Given the description of an element on the screen output the (x, y) to click on. 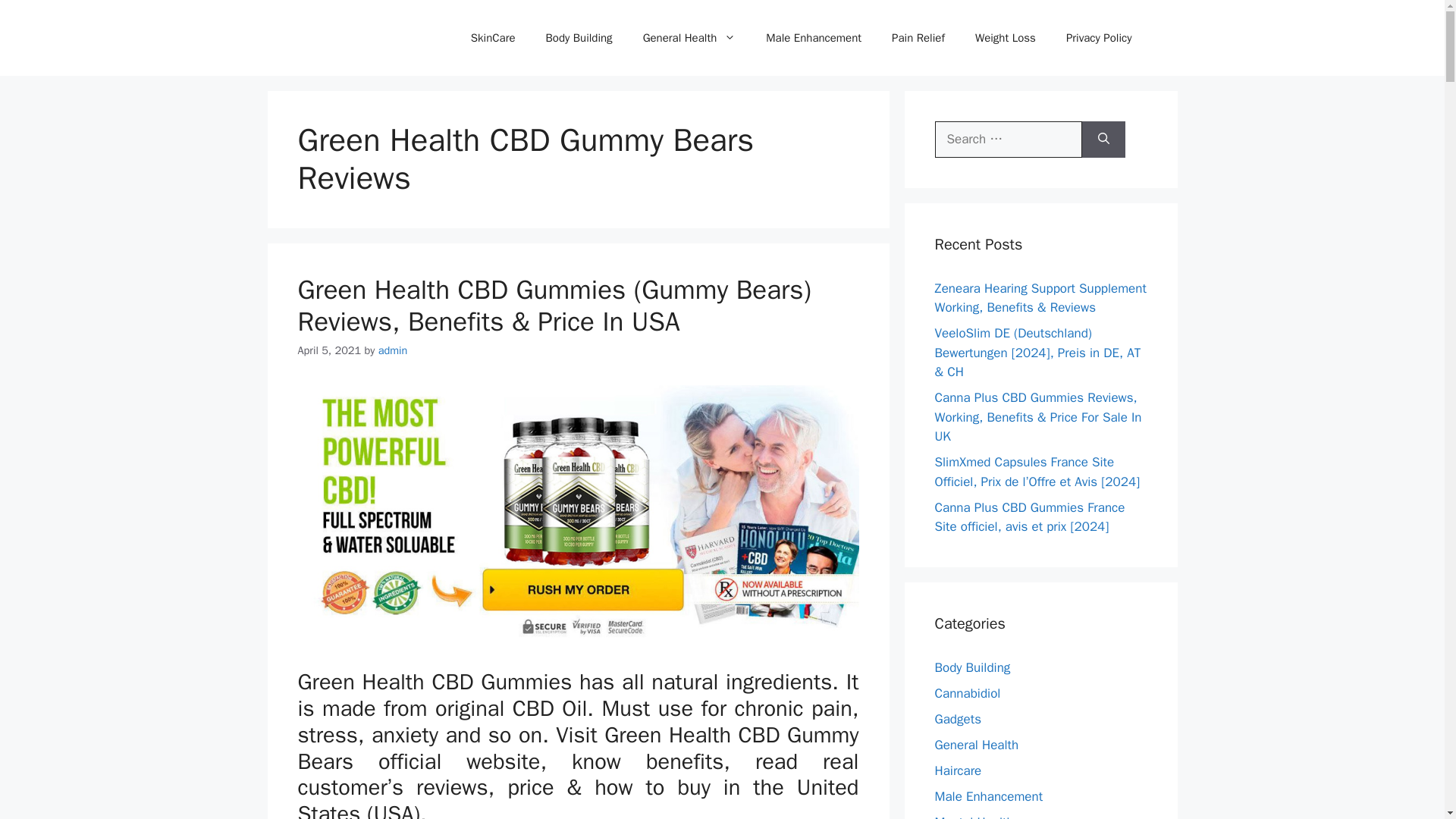
Weight Loss (1005, 37)
Body Building (972, 667)
SkinCare (493, 37)
admin (392, 350)
Privacy Policy (1099, 37)
Pain Relief (917, 37)
View all posts by admin (392, 350)
General Health (689, 37)
Search for: (1007, 139)
Male Enhancement (813, 37)
